Given the description of an element on the screen output the (x, y) to click on. 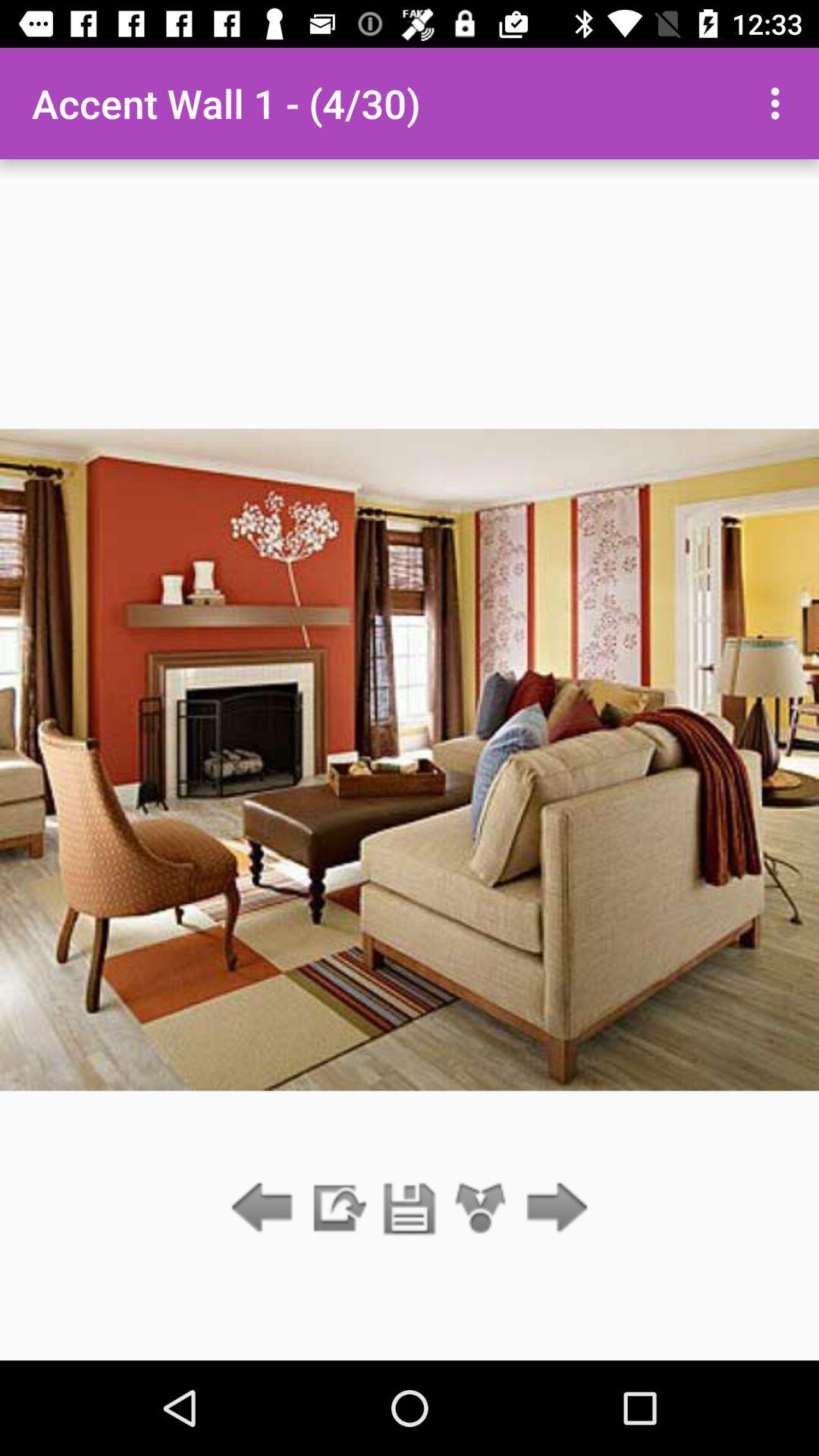
save to disk (409, 1208)
